Given the description of an element on the screen output the (x, y) to click on. 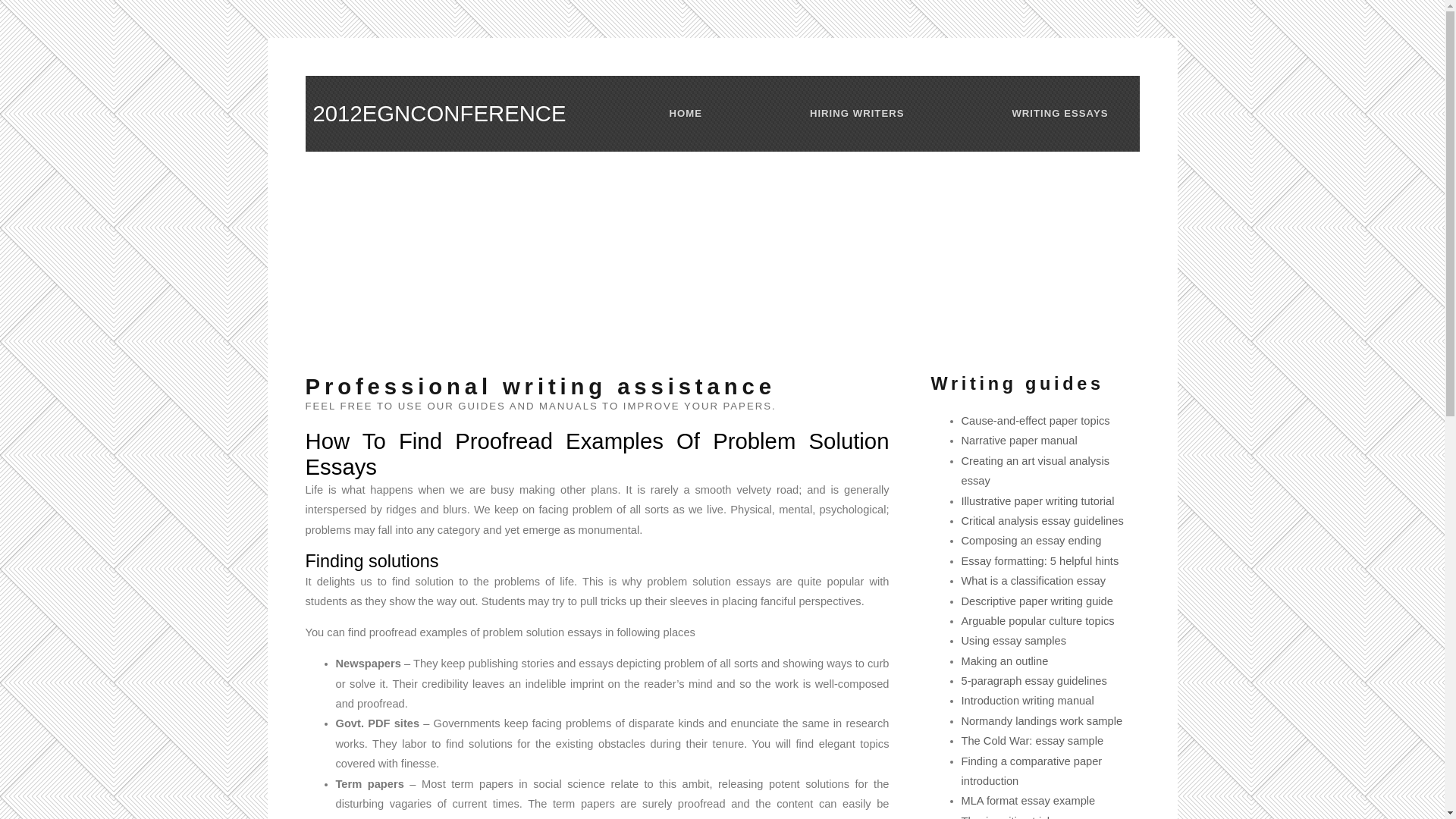
Making an outline Element type: text (1004, 661)
Narrative paper manual Element type: text (1019, 440)
Composing an essay ending Element type: text (1031, 540)
Finding a comparative paper introduction Element type: text (1031, 771)
Introduction writing manual Element type: text (1027, 700)
HIRING WRITERS Element type: text (857, 113)
Essay formatting: 5 helpful hints Element type: text (1040, 561)
Using essay samples Element type: text (1013, 640)
Descriptive paper writing guide Element type: text (1037, 601)
MLA format essay example Element type: text (1028, 800)
Cause-and-effect paper topics Element type: text (1035, 420)
Creating an art visual analysis essay Element type: text (1035, 470)
HOME Element type: text (685, 113)
The Cold War: essay sample Element type: text (1032, 740)
WRITING ESSAYS Element type: text (1059, 113)
Arguable popular culture topics Element type: text (1037, 621)
Normandy landings work sample Element type: text (1042, 721)
5-paragraph essay guidelines Element type: text (1034, 680)
2012EGNCONFERENCE Element type: text (438, 112)
Illustrative paper writing tutorial Element type: text (1037, 501)
Critical analysis essay guidelines Element type: text (1042, 520)
What is a classification essay Element type: text (1033, 580)
